Given the description of an element on the screen output the (x, y) to click on. 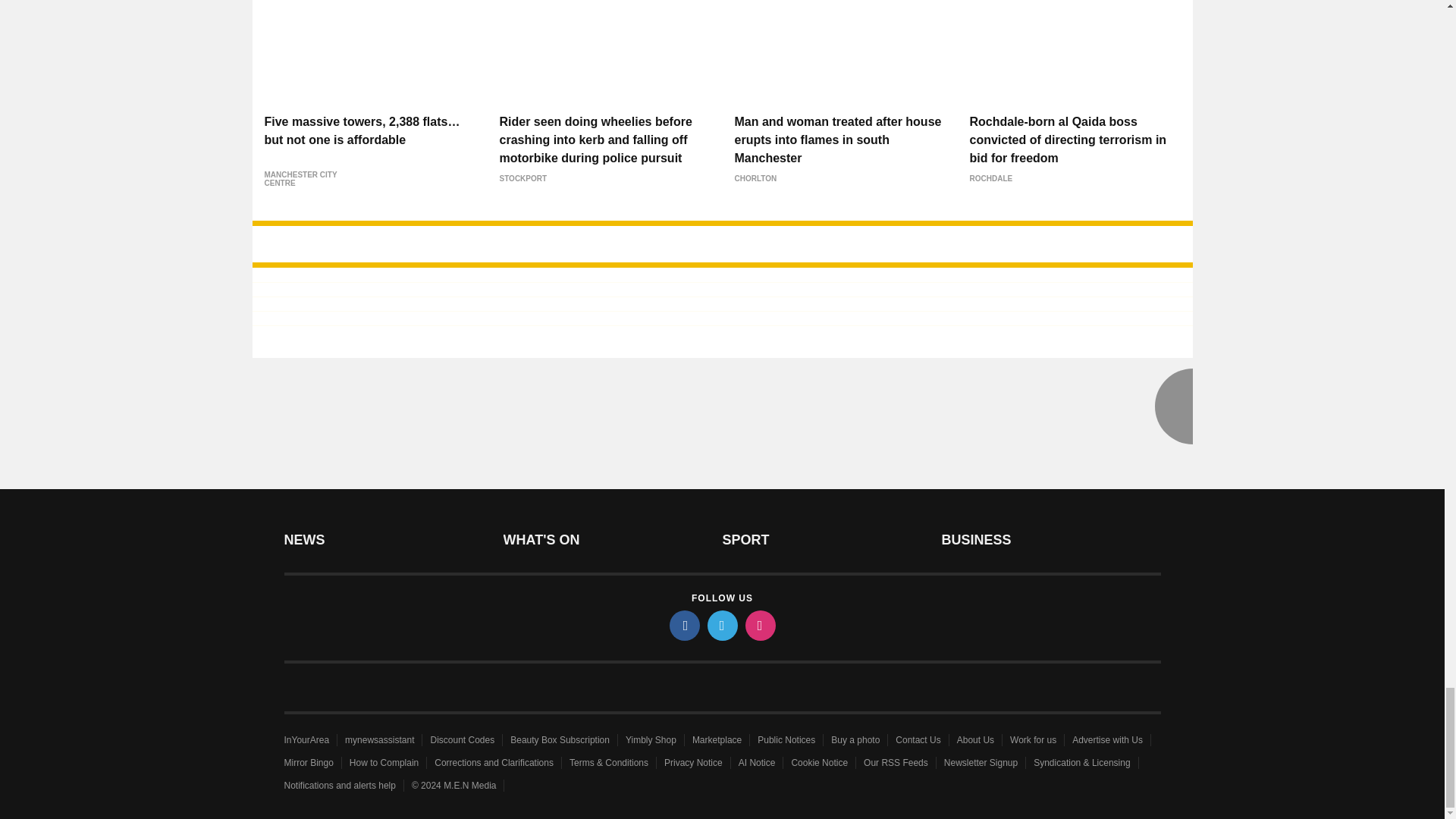
facebook (683, 625)
instagram (759, 625)
twitter (721, 625)
